Given the description of an element on the screen output the (x, y) to click on. 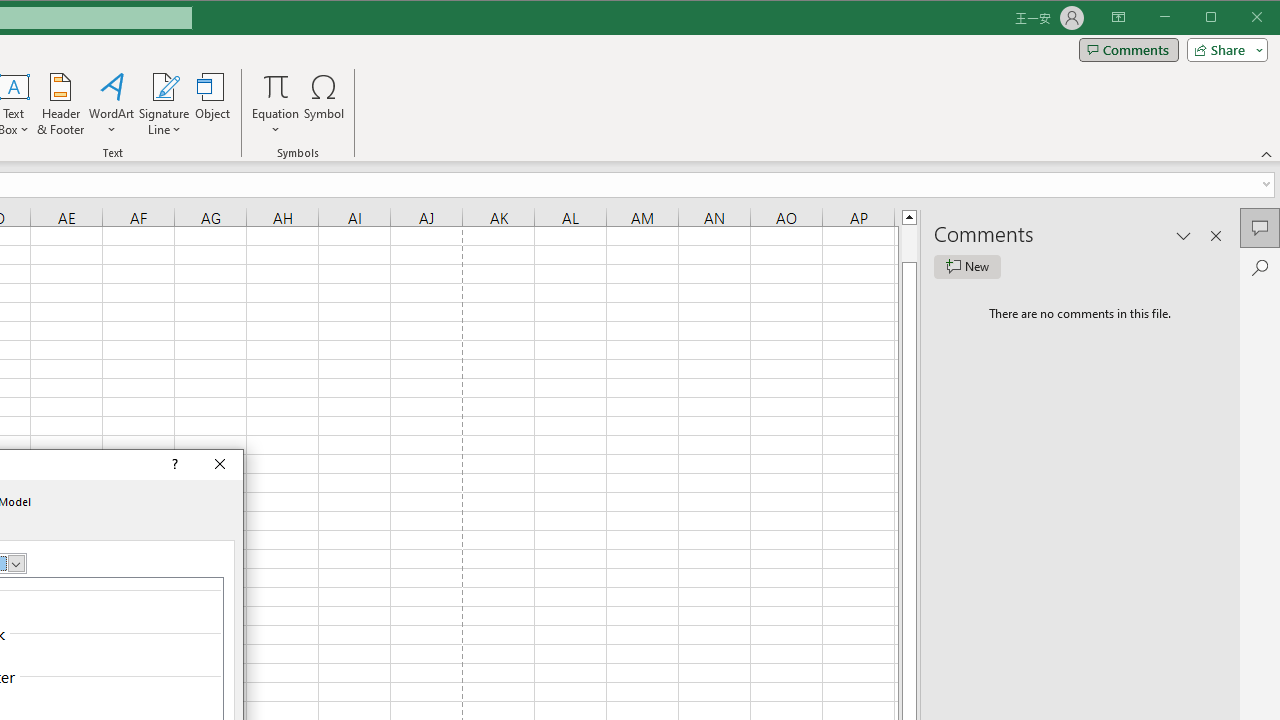
Comments (1128, 49)
New comment (967, 266)
Share (1223, 49)
Signature Line (164, 104)
Minimize (1217, 18)
Search (1260, 267)
More Options (275, 123)
Task Pane Options (1183, 235)
Close (220, 465)
Maximize (1239, 18)
Close pane (1215, 235)
WordArt (111, 104)
Signature Line (164, 86)
Equation (275, 104)
Object... (213, 104)
